Given the description of an element on the screen output the (x, y) to click on. 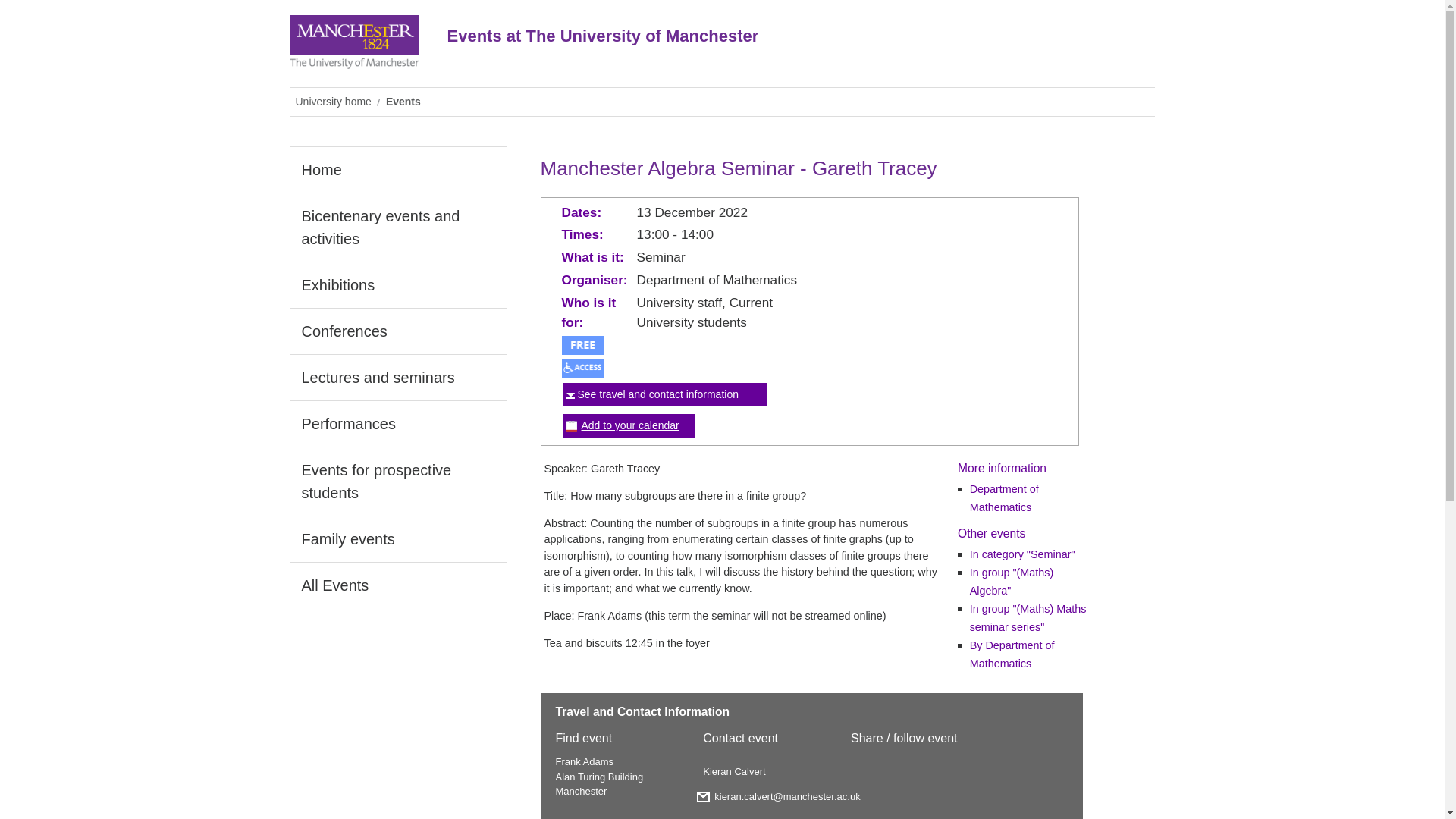
Add to your calendar (629, 425)
Download iCal file (629, 425)
Events for prospective students (397, 481)
All Events (397, 585)
Department of Mathematics (1004, 498)
Events at The University of Manchester (752, 47)
Conferences (397, 330)
Lectures and seminars (397, 377)
Performances (397, 423)
Exhibitions (397, 284)
Home (397, 169)
By Department of Mathematics (1011, 654)
Events (404, 101)
Family events (397, 538)
Bicentenary events and activities (397, 227)
